Given the description of an element on the screen output the (x, y) to click on. 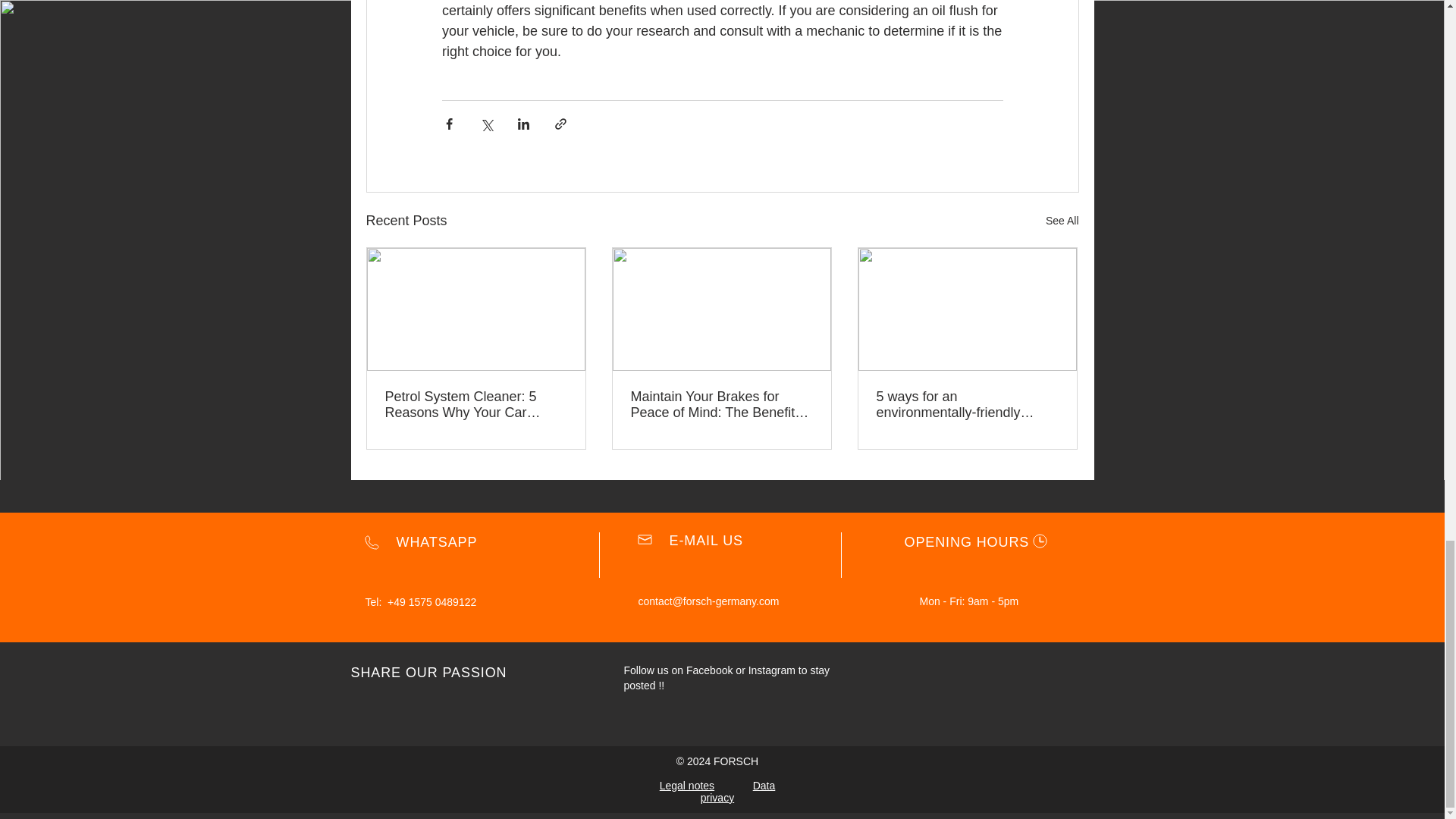
Data privacy (737, 791)
5 ways for an environmentally-friendly driving !! (967, 404)
Petrol System Cleaner: 5 Reasons Why Your Car Needs it!! (476, 404)
Legal notes (686, 785)
See All (1061, 220)
